Given the description of an element on the screen output the (x, y) to click on. 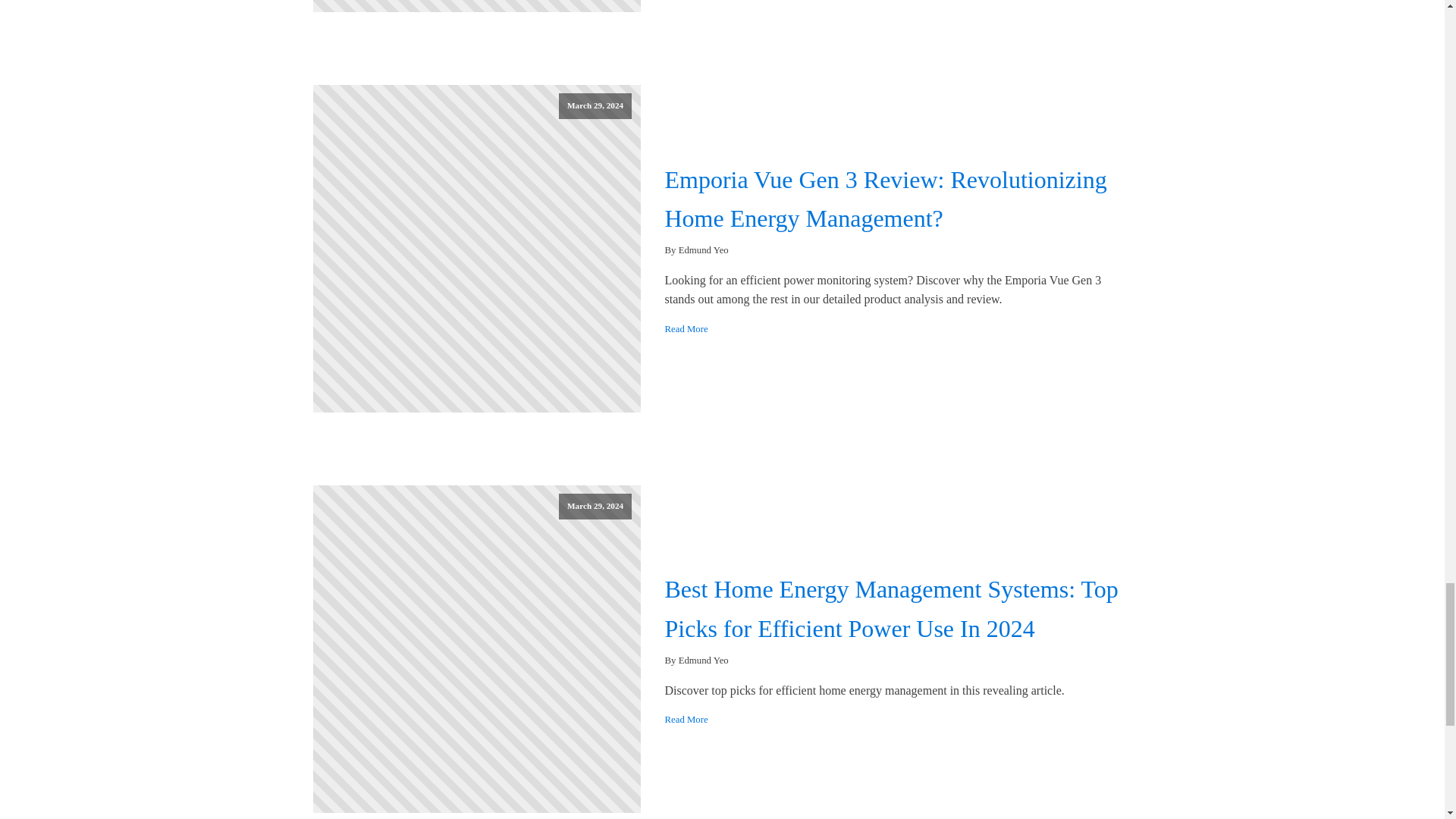
March 29, 2024 (476, 6)
March 29, 2024 (476, 649)
Read More (685, 719)
March 29, 2024 (476, 248)
Read More (685, 328)
